Given the description of an element on the screen output the (x, y) to click on. 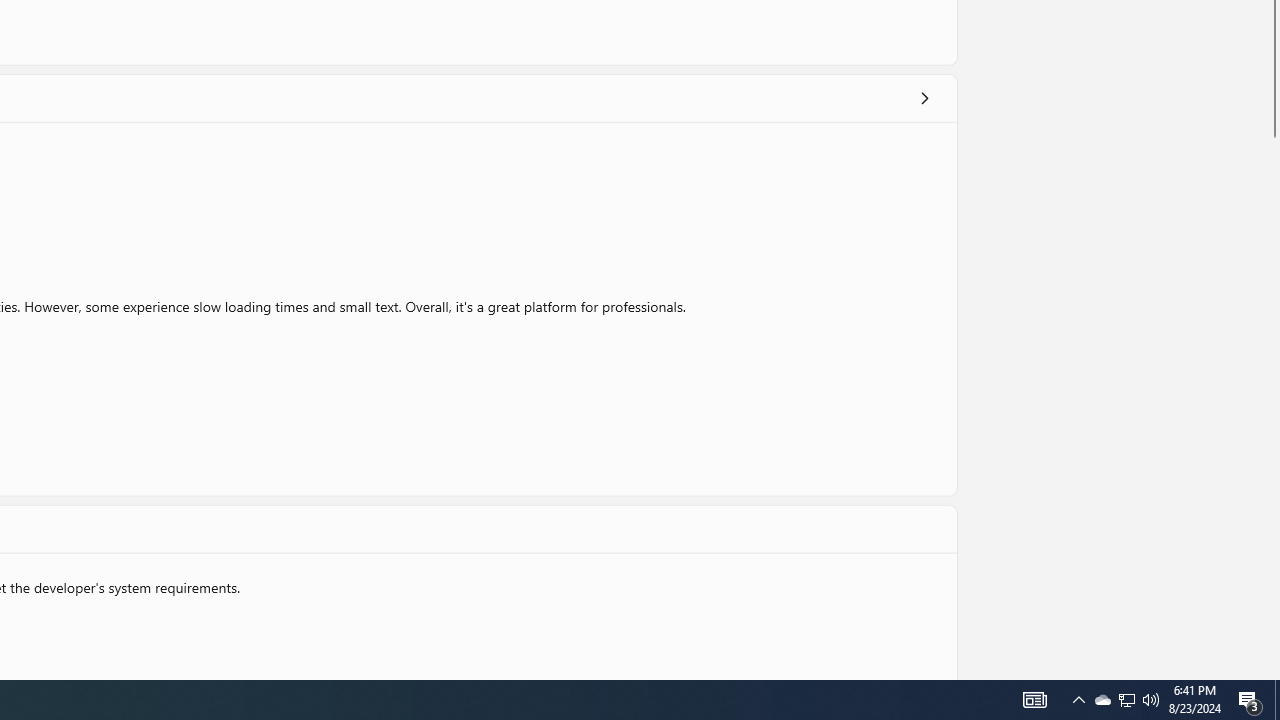
Vertical Small Increase (1272, 672)
Vertical Large Increase (1272, 403)
Show all ratings and reviews (924, 97)
